Given the description of an element on the screen output the (x, y) to click on. 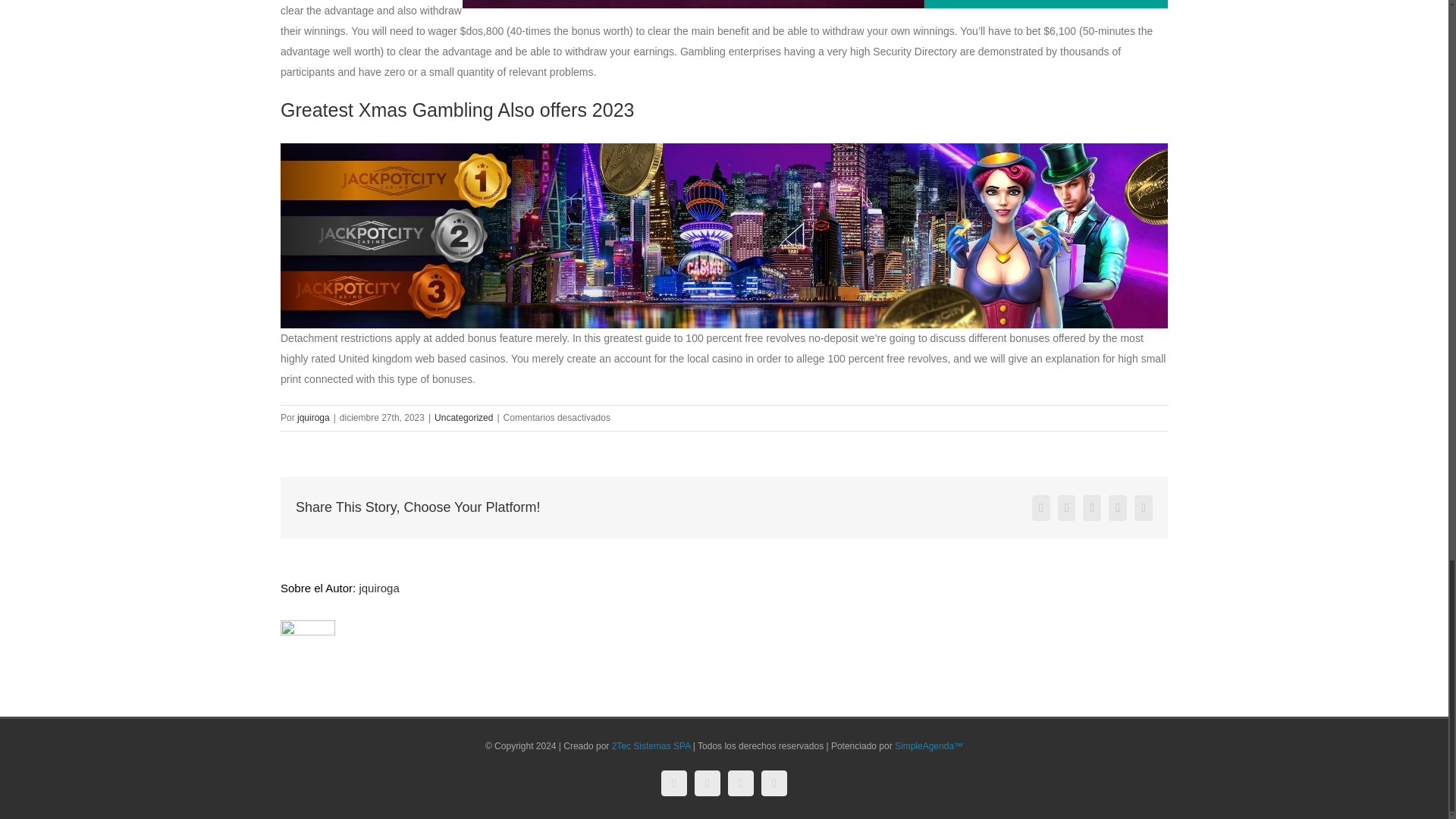
Entradas de jquiroga (313, 417)
Entradas de jquiroga (378, 587)
